Given the description of an element on the screen output the (x, y) to click on. 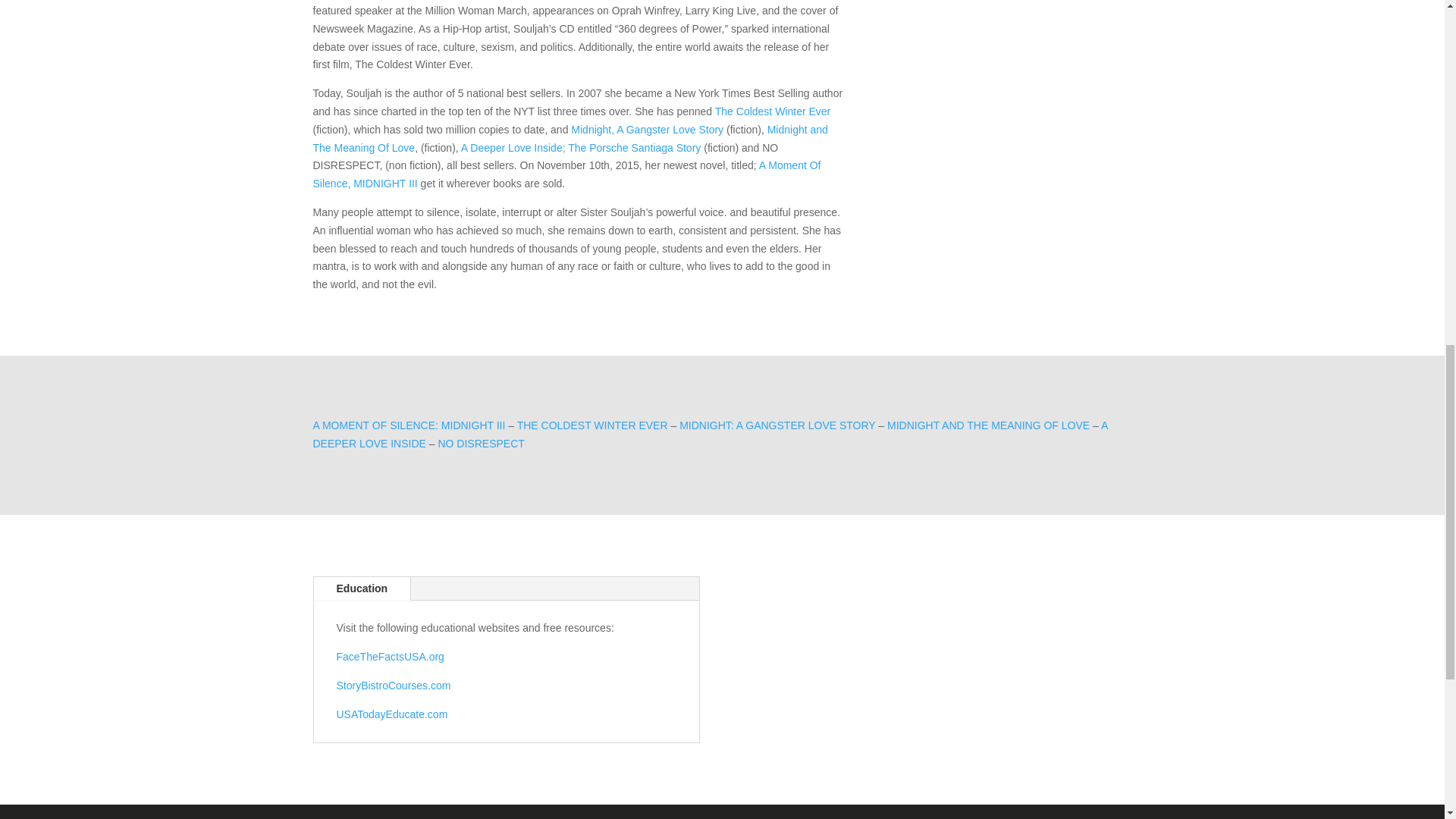
FaceTheFactsUSA.org (390, 656)
StoryBistroCourses.com (393, 685)
Midnight and The Meaning Of Love (570, 138)
A DEEPER LOVE INSIDE (709, 434)
A MOMENT OF SILENCE: MIDNIGHT III (409, 425)
USATodayEducate.com (392, 714)
The Coldest Winter Ever (772, 111)
MIDNIGHT AND THE MEANING OF LOVE (987, 425)
THE COLDEST WINTER EVER (592, 425)
Education (362, 589)
MIDNIGHT: A GANGSTER LOVE STORY (777, 425)
A Moment Of Silence, MIDNIGHT III (567, 173)
A Deeper Love Inside; The Porsche Santiaga Story (581, 147)
Midnight, A Gangster Love Story (646, 129)
NO DISRESPECT (481, 443)
